Given the description of an element on the screen output the (x, y) to click on. 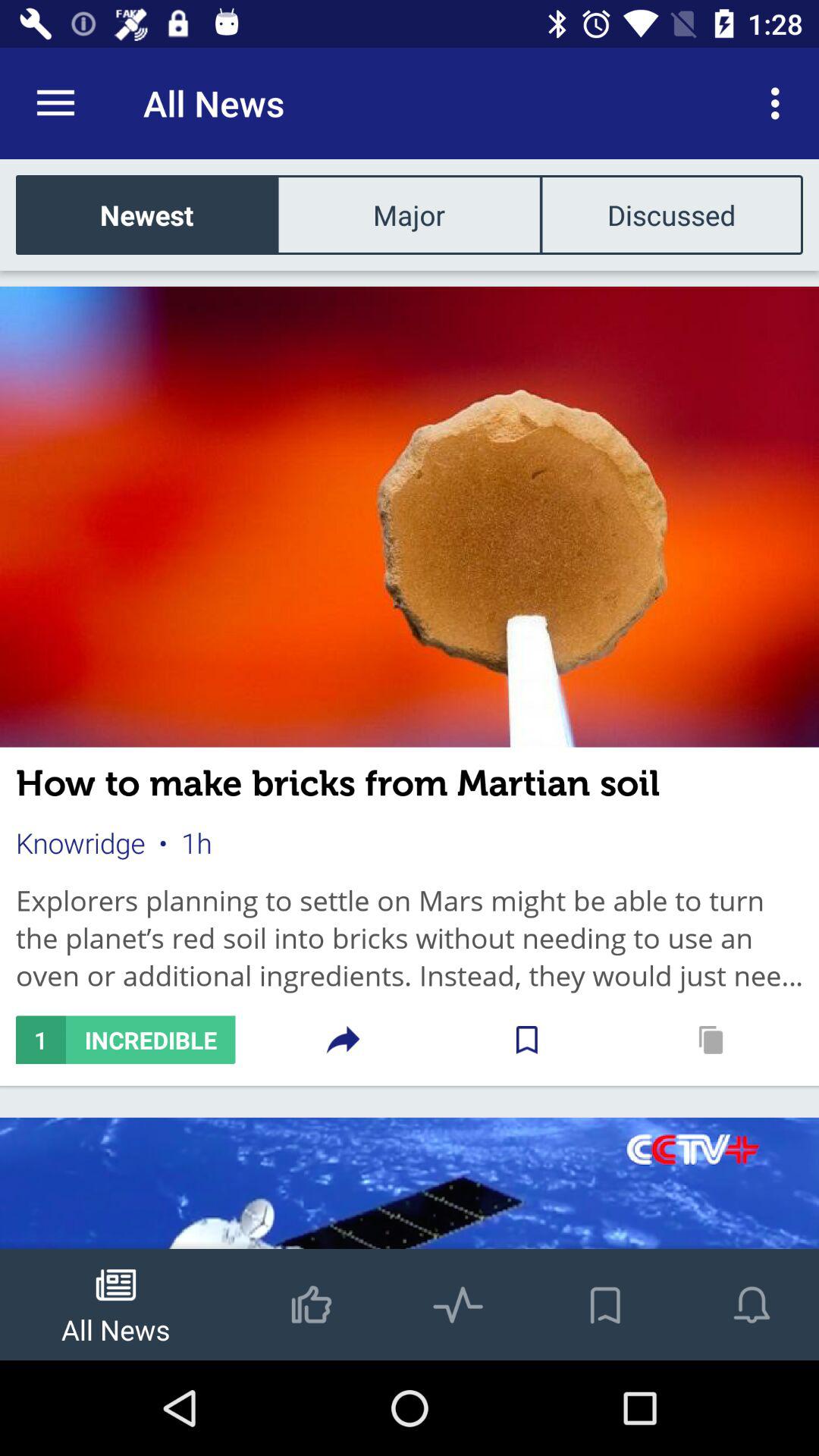
open item below all news (409, 214)
